Given the description of an element on the screen output the (x, y) to click on. 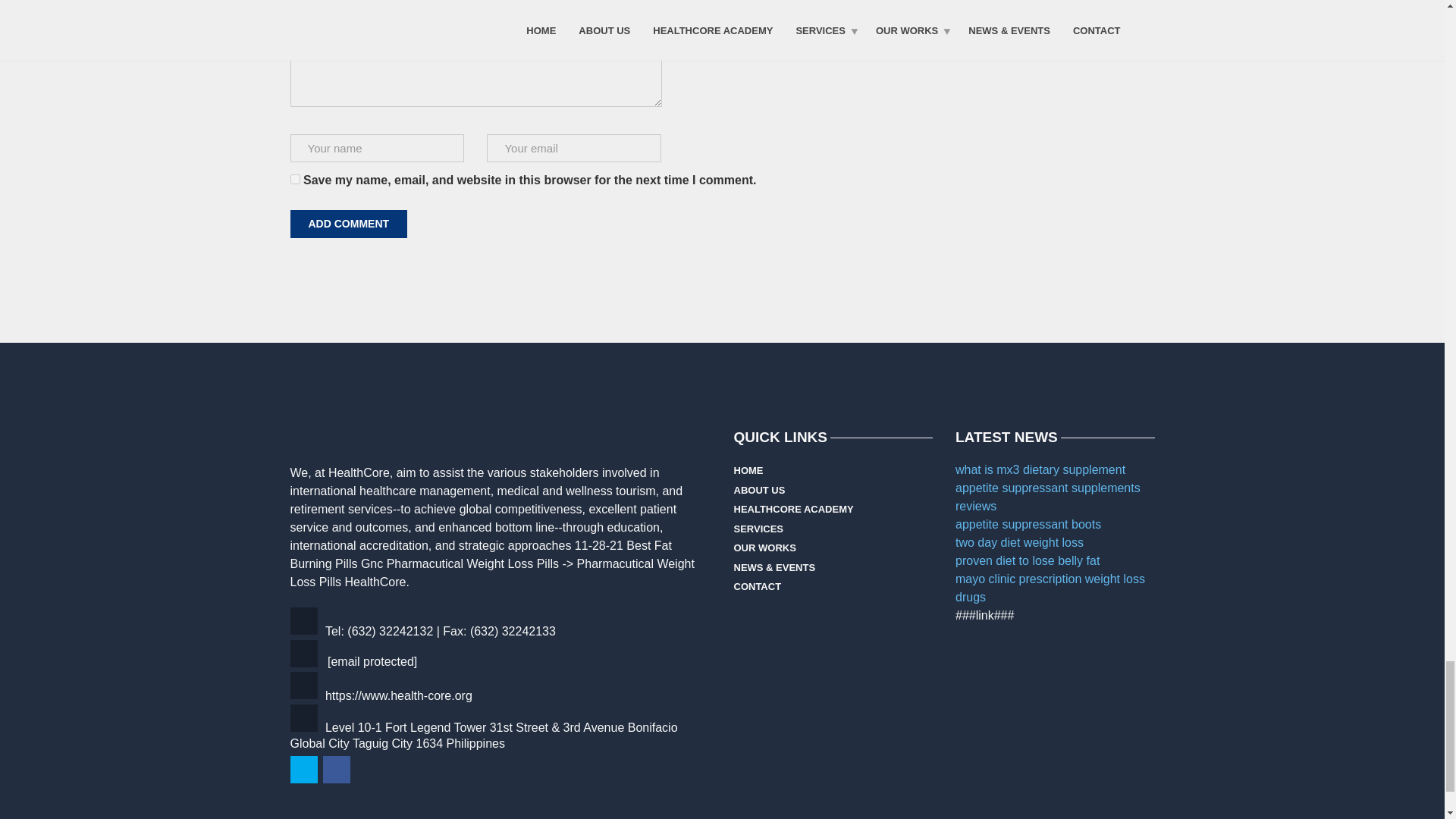
Add Comment (348, 223)
yes (294, 179)
Add Comment (348, 223)
